Given the description of an element on the screen output the (x, y) to click on. 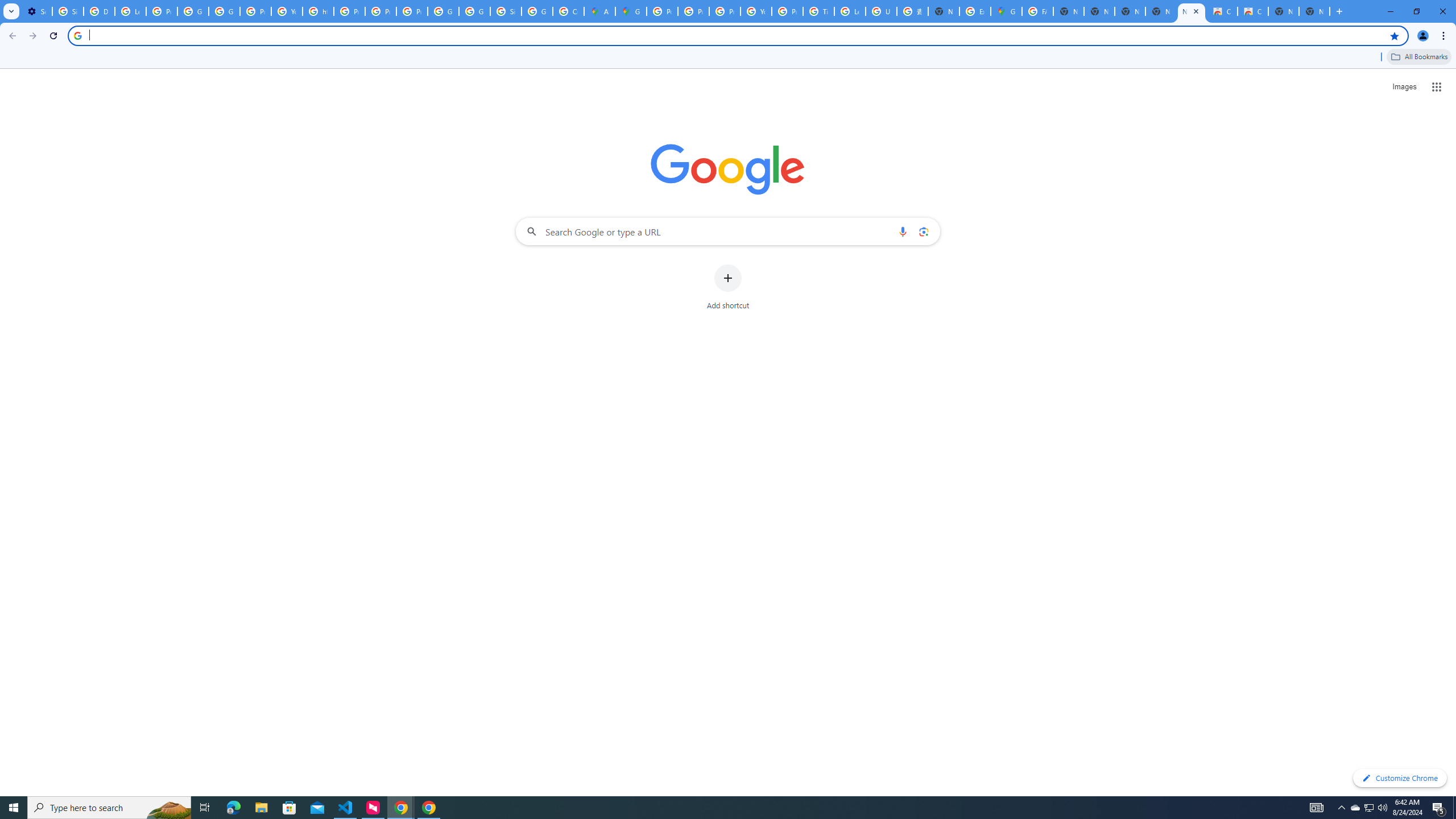
Google Maps (1005, 11)
Google Maps (631, 11)
Tips & tricks for Chrome - Google Chrome Help (818, 11)
Privacy Help Center - Policies Help (349, 11)
Delete photos & videos - Computer - Google Photos Help (98, 11)
